Given the description of an element on the screen output the (x, y) to click on. 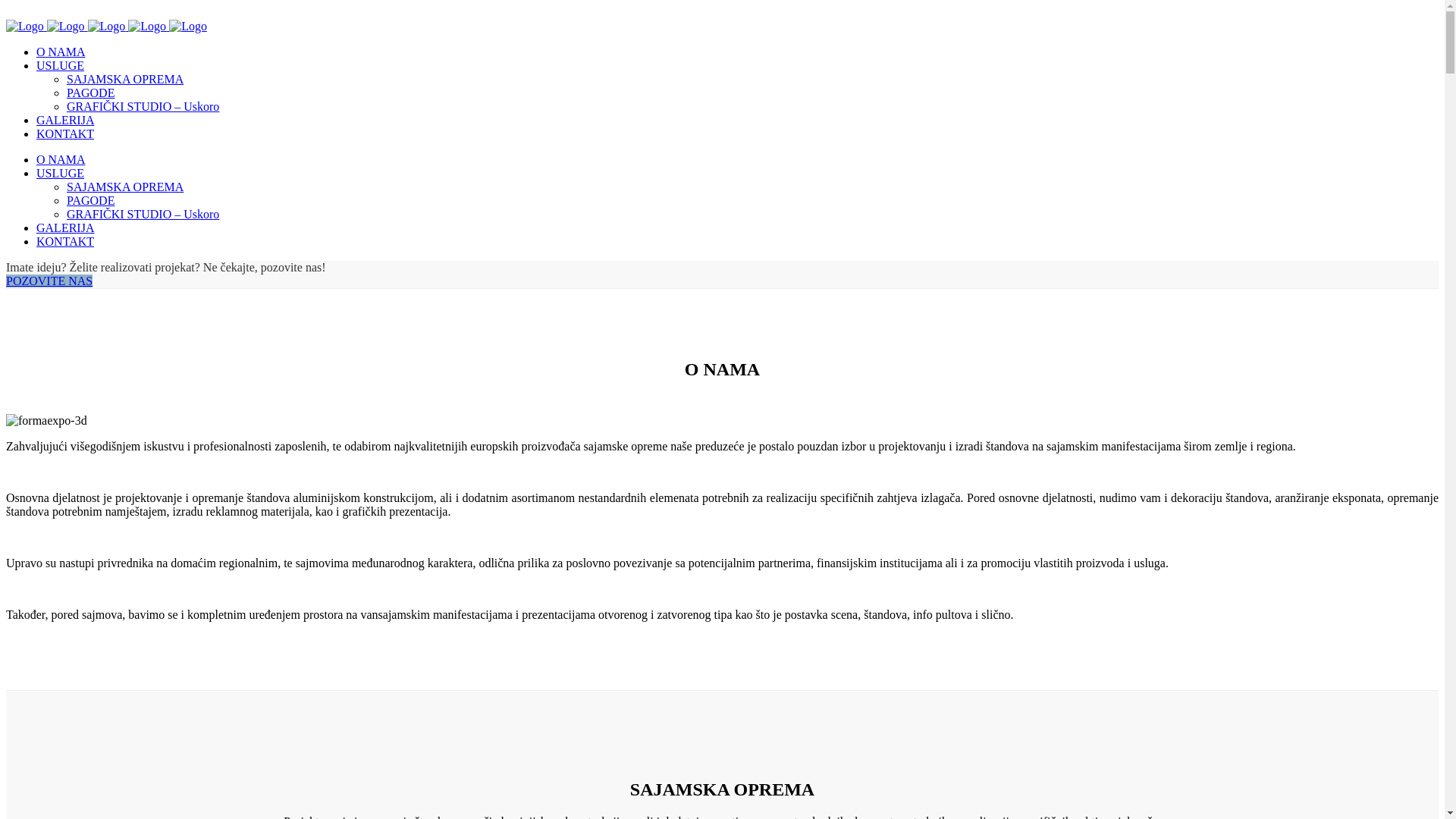
O NAMA Element type: text (60, 51)
SAJAMSKA OPREMA Element type: text (124, 186)
PAGODE Element type: text (90, 92)
KONTAKT Element type: text (65, 241)
O NAMA Element type: text (60, 159)
PAGODE Element type: text (90, 200)
KONTAKT Element type: text (65, 133)
POZOVITE NAS Element type: text (49, 280)
SAJAMSKA OPREMA Element type: text (124, 78)
USLUGE Element type: text (60, 172)
GALERIJA Element type: text (65, 227)
formaexpo-3d Element type: hover (46, 420)
USLUGE Element type: text (60, 65)
GALERIJA Element type: text (65, 119)
